Given the description of an element on the screen output the (x, y) to click on. 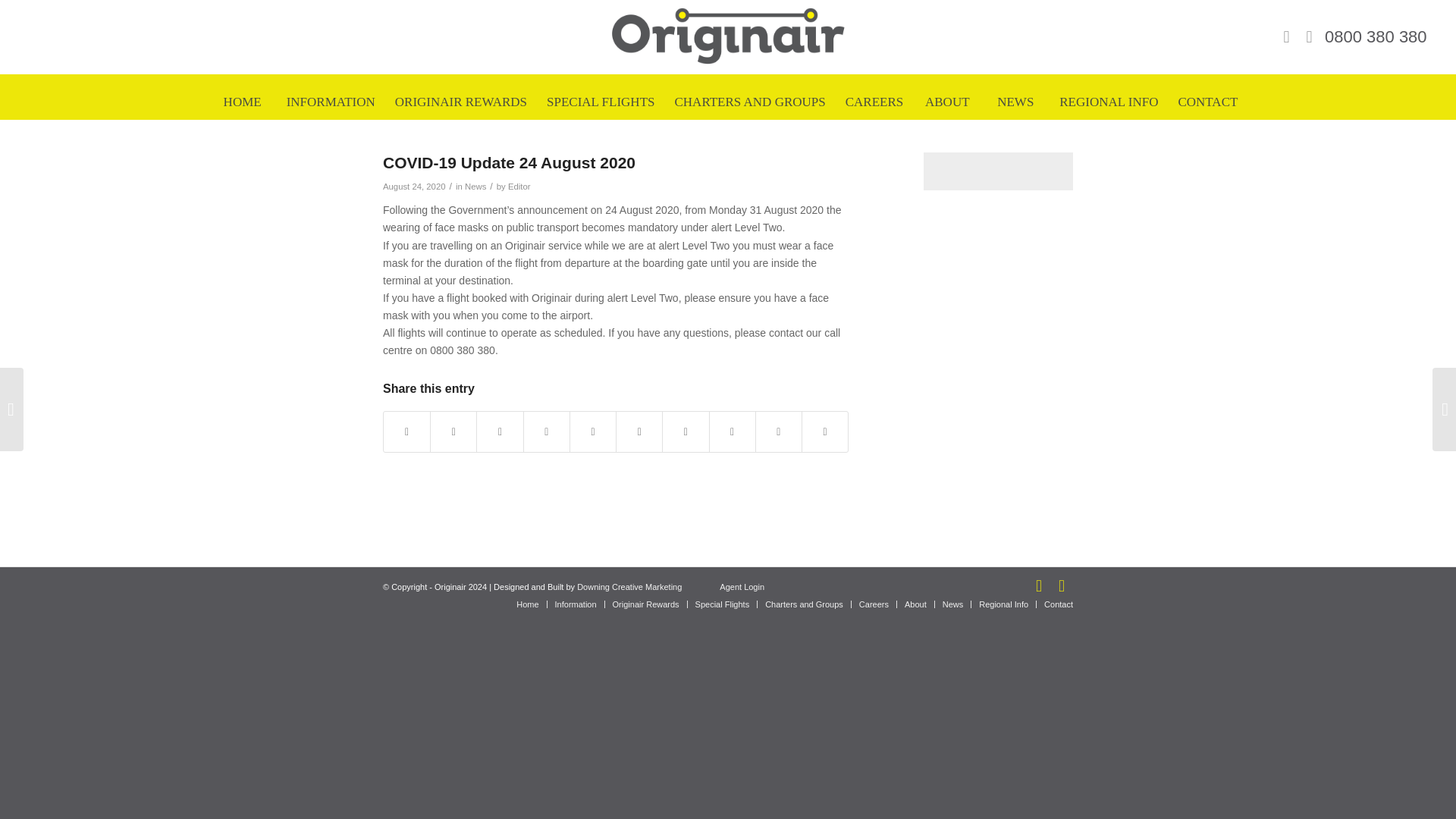
CONTACT (1207, 102)
INFORMATION (330, 102)
0800 380 380 (1375, 36)
NEWS (1015, 102)
CHARTERS AND GROUPS (748, 102)
REGIONAL INFO (1108, 102)
HOME (242, 102)
Facebook (1286, 36)
ORIGINAIR REWARDS (461, 102)
ABOUT (946, 102)
News (475, 185)
Editor (519, 185)
originair-logo-byline-2 (727, 37)
News (1015, 102)
Posts by Editor (519, 185)
